Given the description of an element on the screen output the (x, y) to click on. 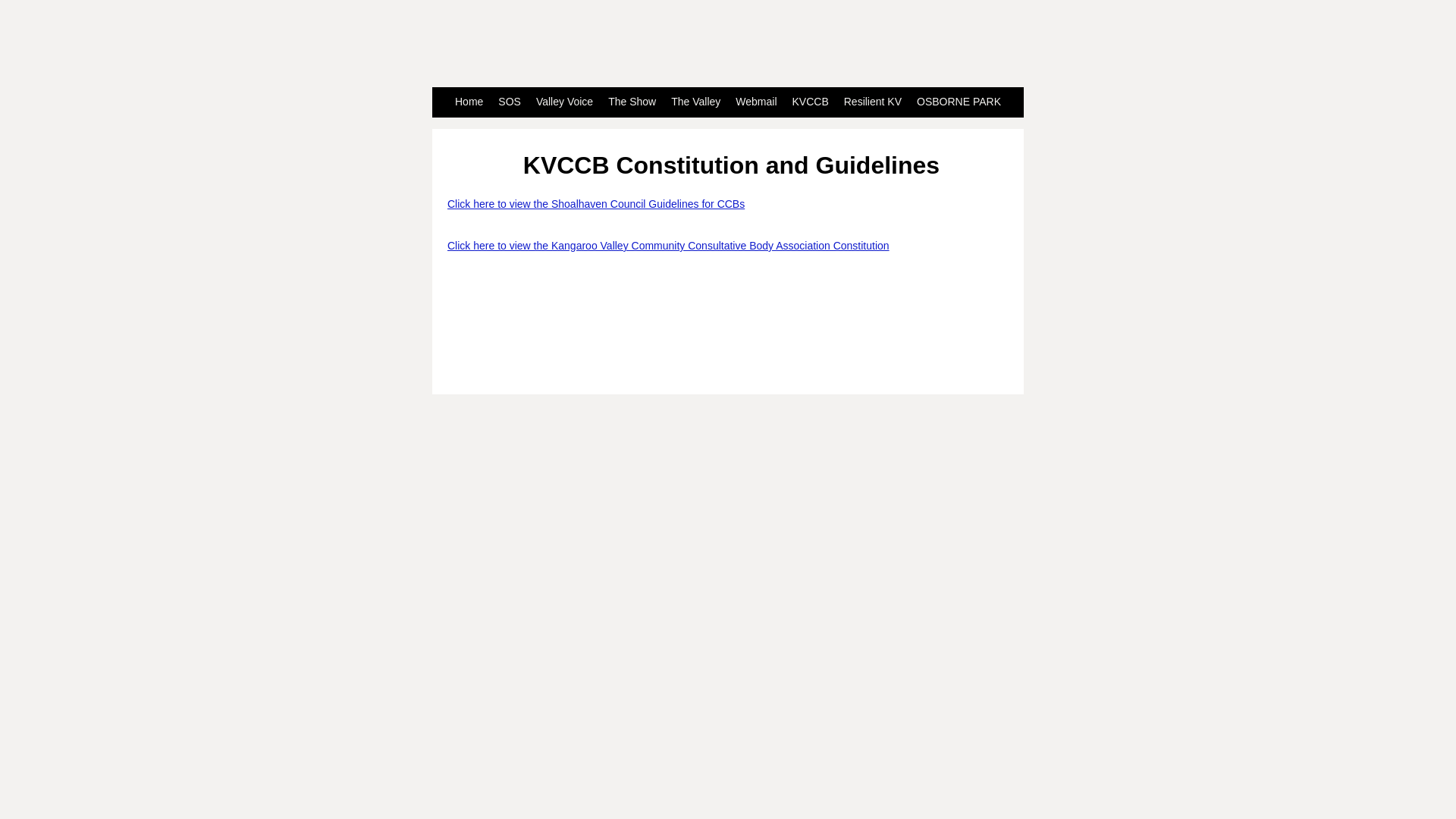
KVCCB Element type: text (810, 102)
Webmail Element type: text (756, 102)
SOS Element type: text (509, 102)
The Valley Element type: text (695, 102)
Valley Voice Element type: text (564, 102)
The Show Element type: text (631, 102)
Home Element type: text (468, 102)
Resilient KV Element type: text (872, 102)
OSBORNE PARK Element type: text (958, 102)
